Given the description of an element on the screen output the (x, y) to click on. 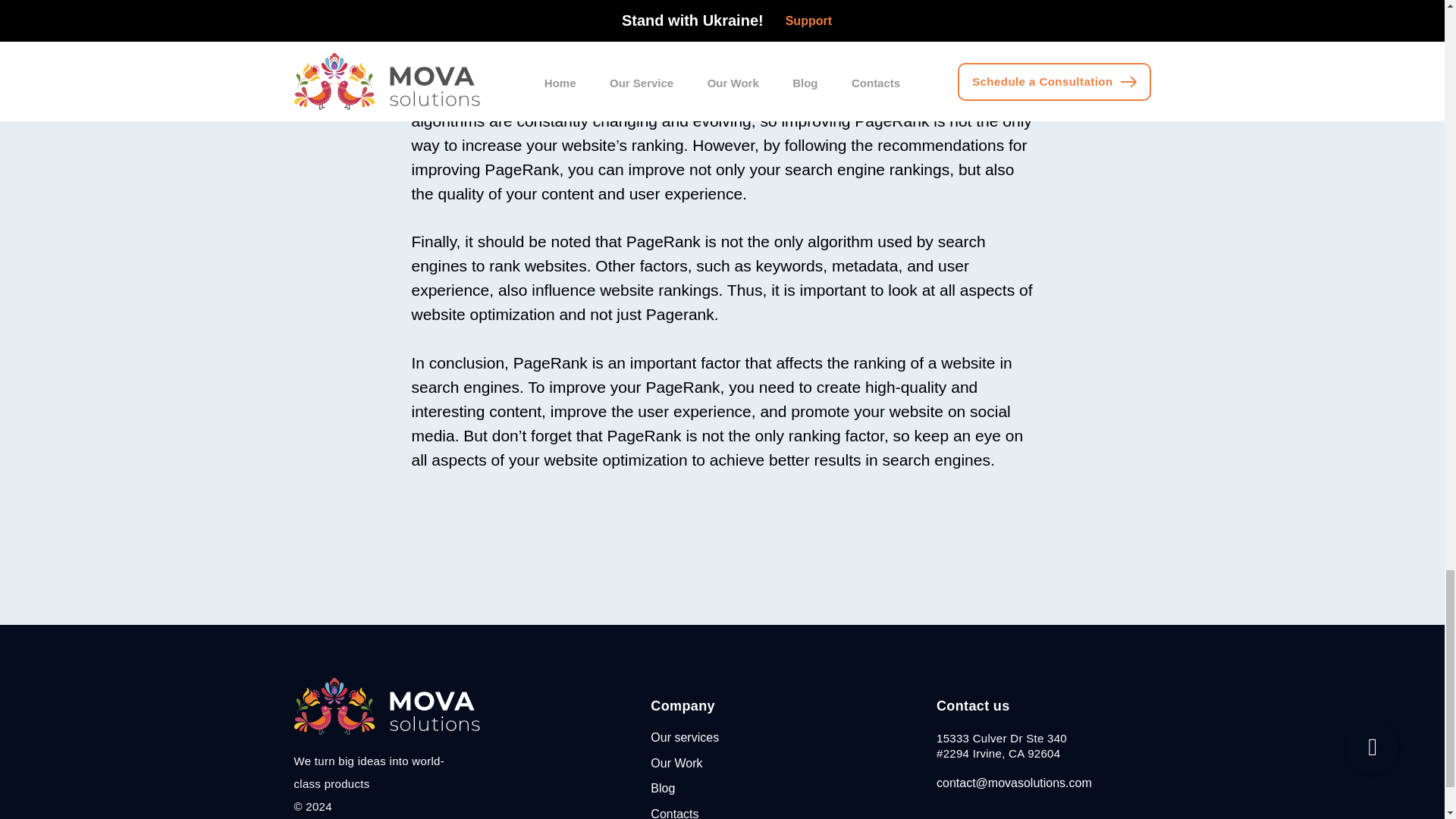
Our services (684, 737)
Our Work (675, 762)
Blog (662, 788)
